Given the description of an element on the screen output the (x, y) to click on. 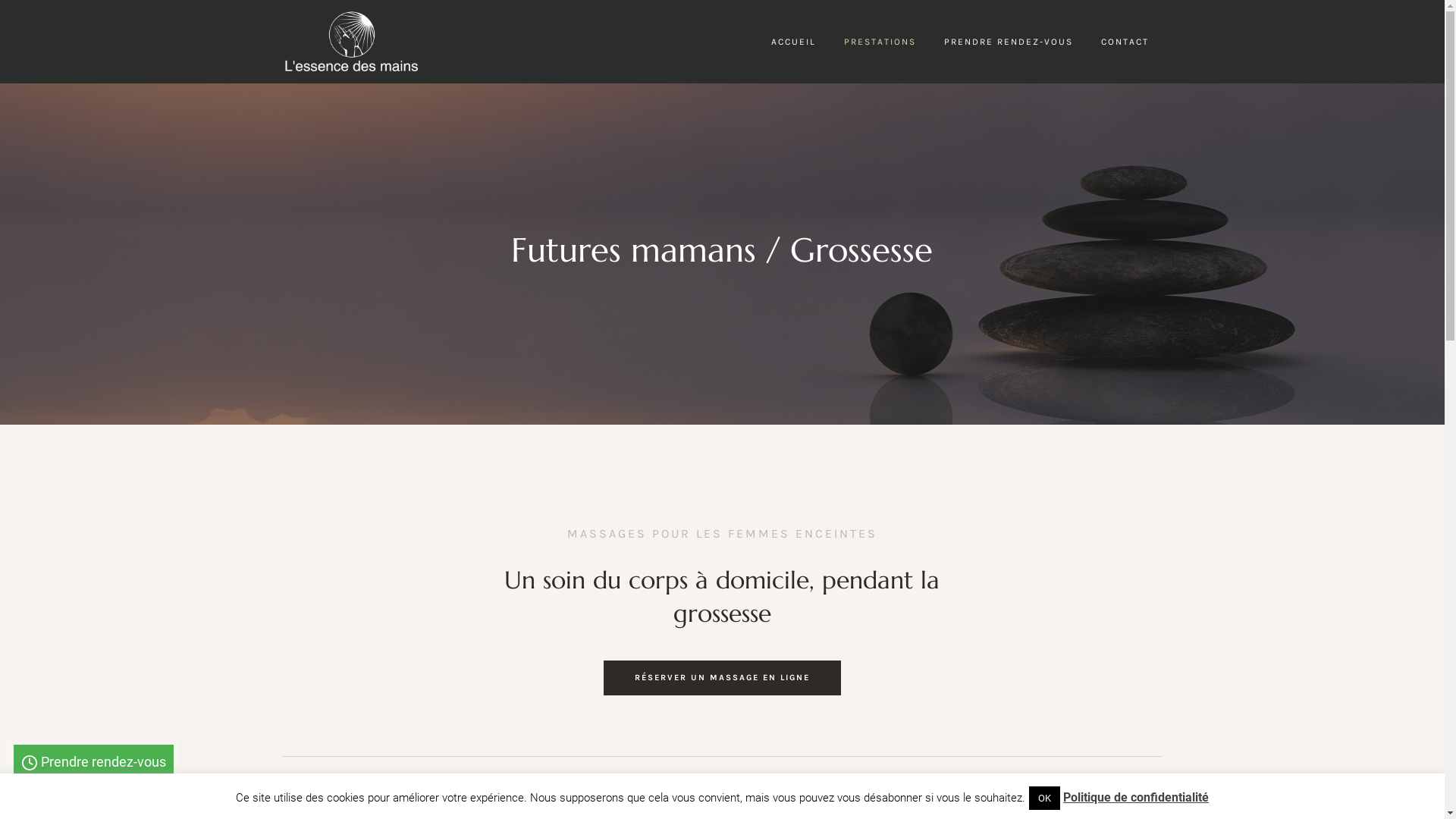
PRESTATIONS Element type: text (878, 41)
ACCUEIL Element type: text (792, 41)
CONTACT Element type: text (1124, 41)
Prendre rendez-vous Element type: text (93, 761)
OK Element type: text (1044, 797)
PRENDRE RENDEZ-VOUS Element type: text (1007, 41)
